Given the description of an element on the screen output the (x, y) to click on. 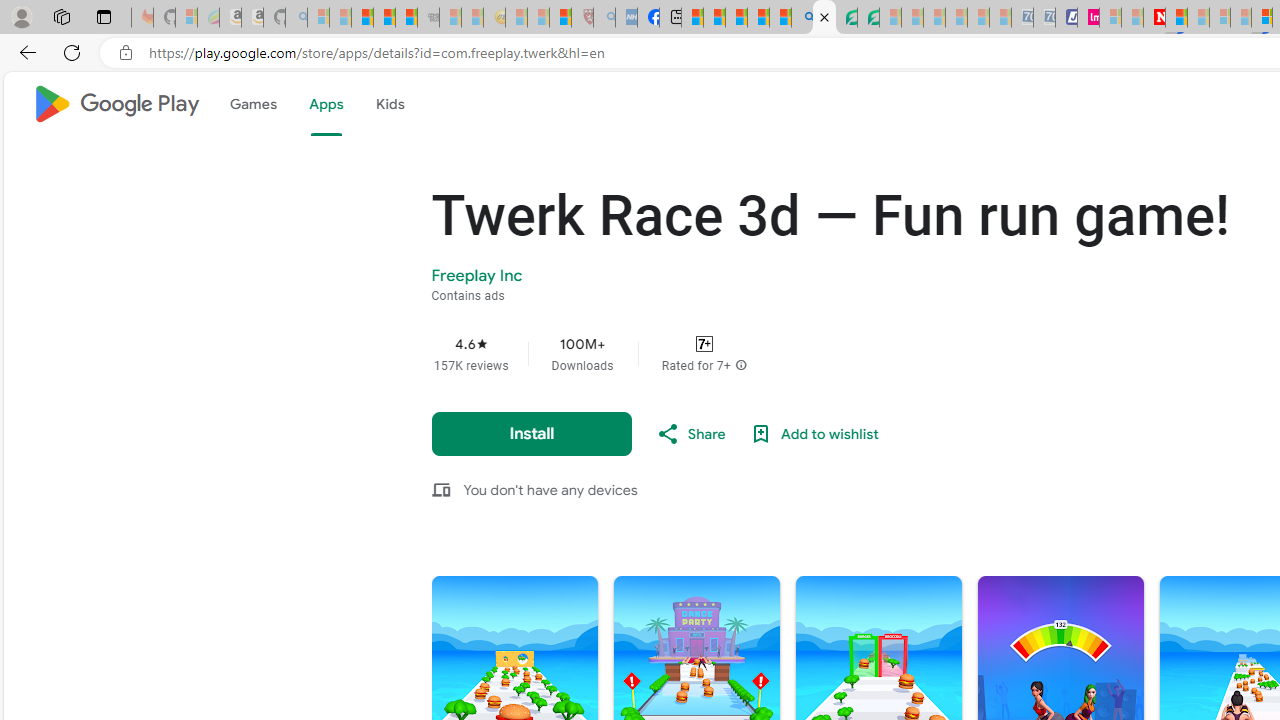
Recipes - MSN - Sleeping (516, 17)
14 Common Myths Debunked By Scientific Facts - Sleeping (1198, 17)
Tab actions menu (104, 16)
Microsoft Word - consumer-privacy address update 2.2021 (868, 17)
Microsoft Start - Sleeping (1132, 17)
Trusted Community Engagement and Contributions | Guidelines (1176, 17)
Terms of Use Agreement (846, 17)
Content rating (703, 344)
View site information (125, 53)
list of asthma inhalers uk - Search - Sleeping (604, 17)
